Given the description of an element on the screen output the (x, y) to click on. 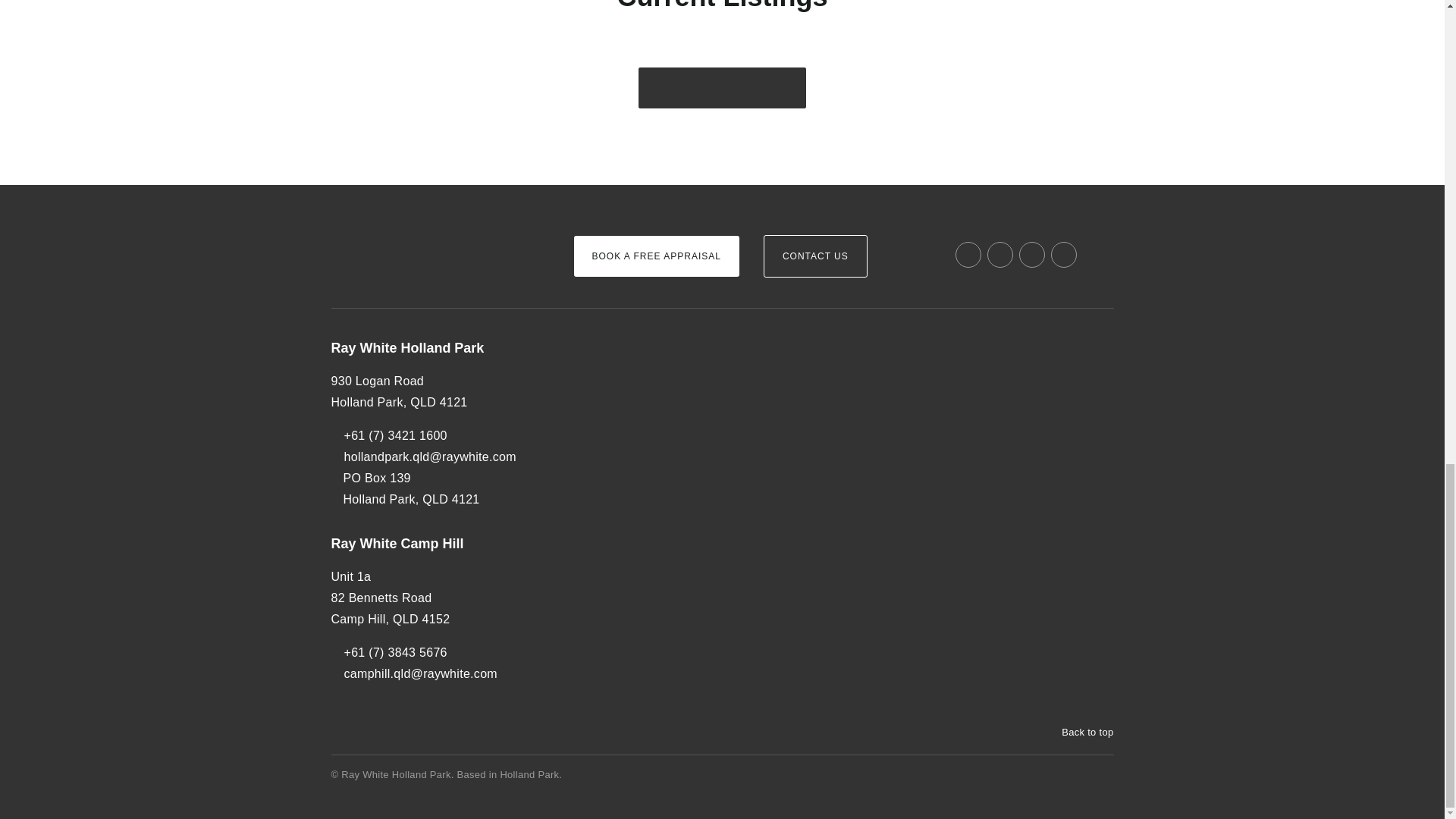
Youtube (1064, 254)
CONTACT US (814, 256)
Back to top (1079, 732)
BOOK A FREE APPRAISAL (655, 255)
Ray White (376, 230)
Instagram (1000, 254)
Ray White Camp Hill (439, 544)
Twitter (1032, 254)
Facebook (968, 254)
LOAD MORE PROPERTIES (722, 87)
